Given the description of an element on the screen output the (x, y) to click on. 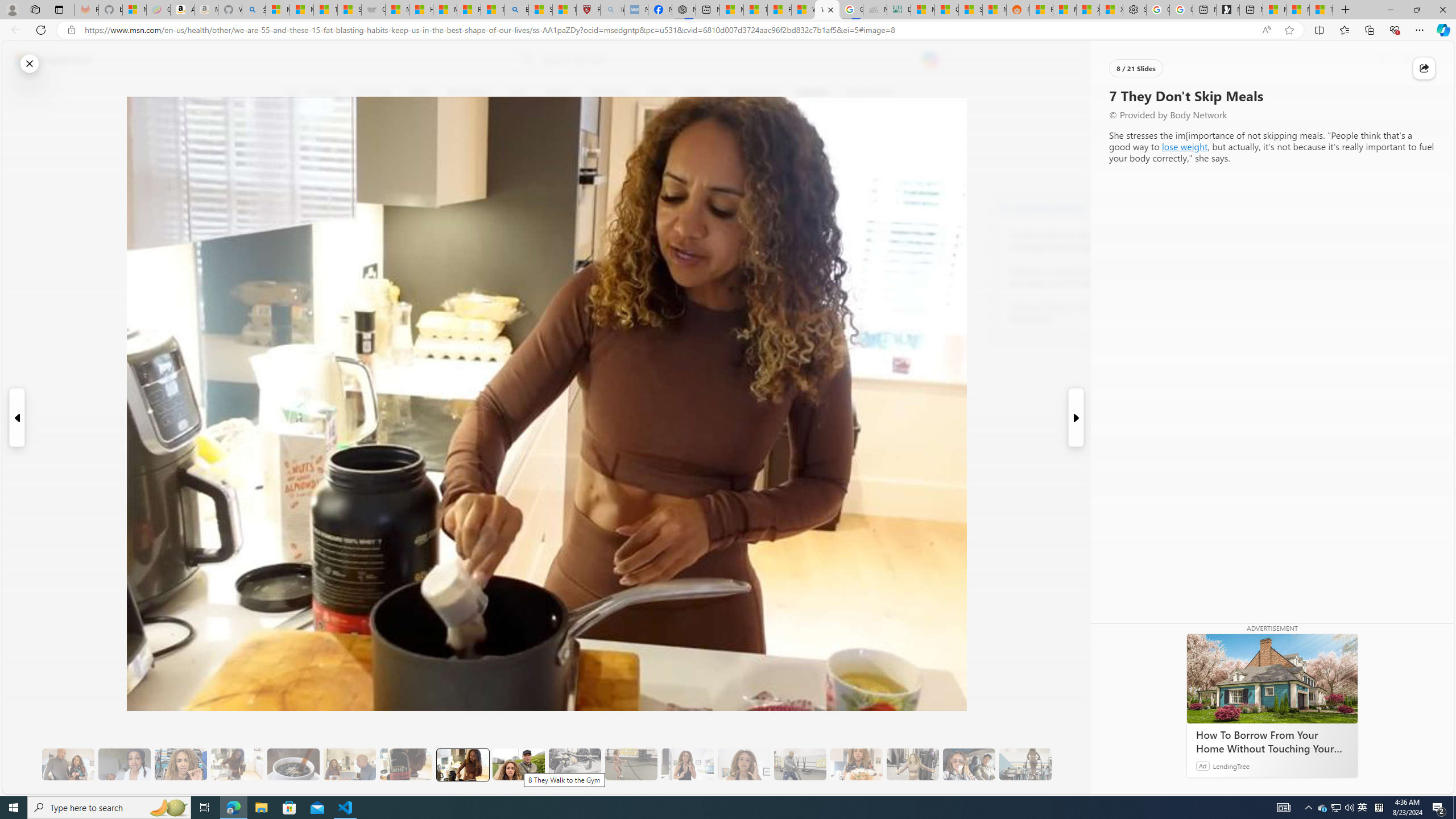
8 They Walk to the Gym (518, 764)
16 The Couple's Program Helps with Accountability (968, 764)
News (419, 92)
12 Proven Ways To Increase Your Metabolism (1071, 313)
13 Her Husband Does Group Cardio Classs (800, 764)
Bing (515, 9)
8 Be Mindful of Coffee (293, 764)
Ad (1202, 765)
14 They Have Salmon and Veggies for Dinner (855, 764)
Science (557, 92)
